Given the description of an element on the screen output the (x, y) to click on. 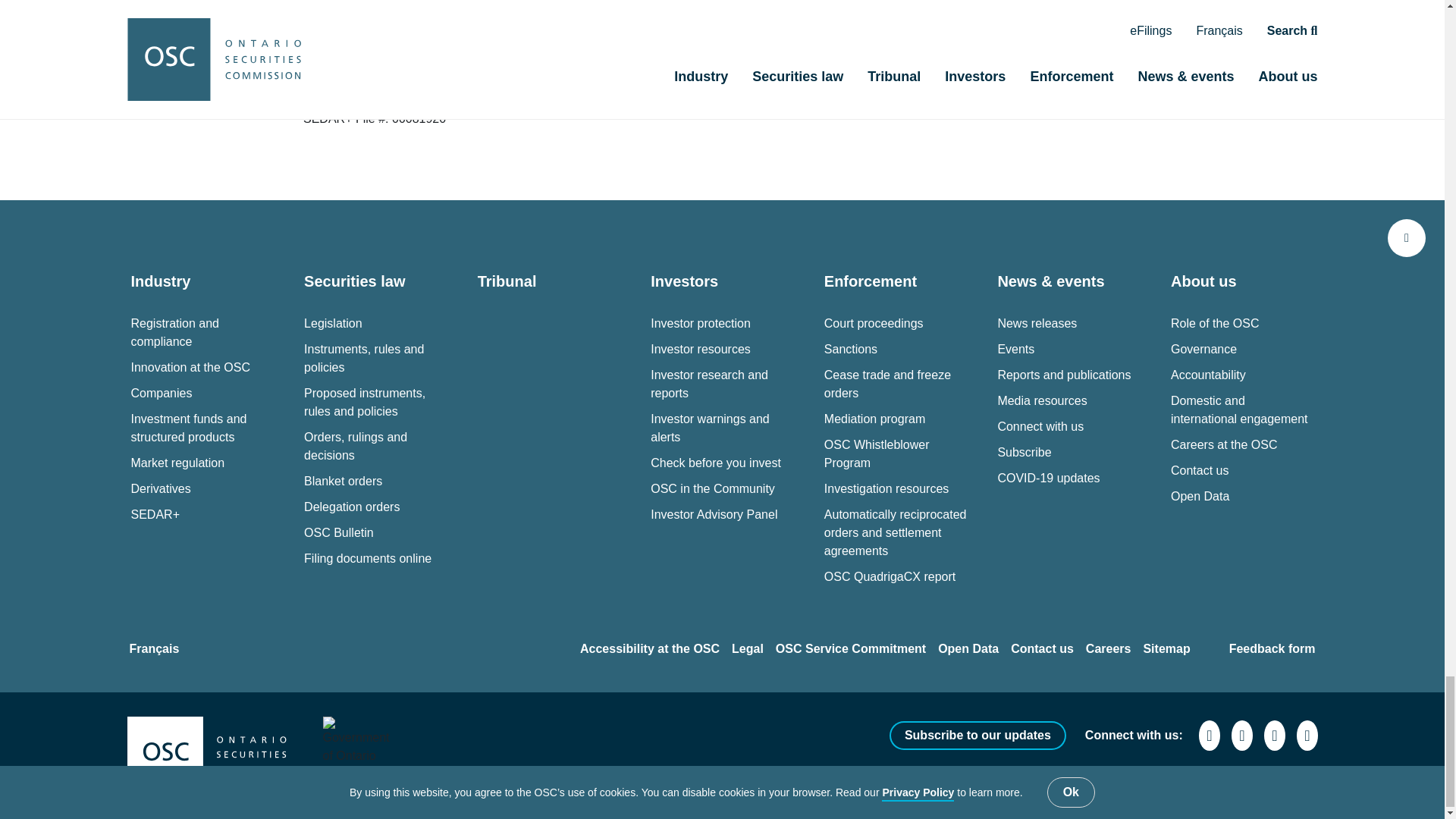
Industry Landing (161, 281)
Tribunal Landing (507, 281)
Investors Landing (684, 281)
Securities Law Landing (354, 281)
Enforcement Landing (870, 281)
About us Landing (1203, 281)
Go to top (1406, 238)
